Given the description of an element on the screen output the (x, y) to click on. 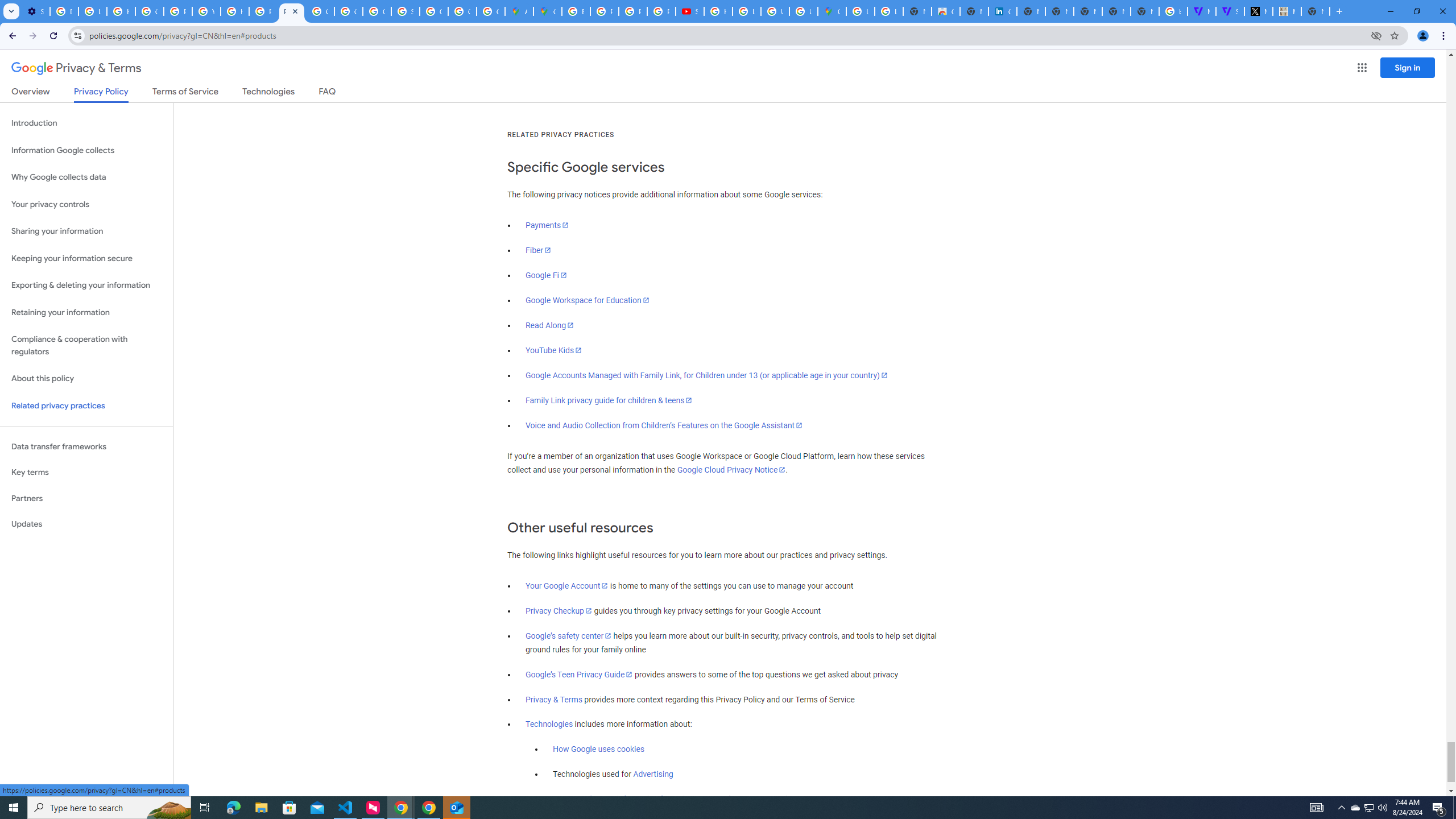
Google Cloud Privacy Notice (731, 469)
Privacy Help Center - Policies Help (604, 11)
Related privacy practices (86, 405)
How Google uses cookies (599, 749)
